Given the description of an element on the screen output the (x, y) to click on. 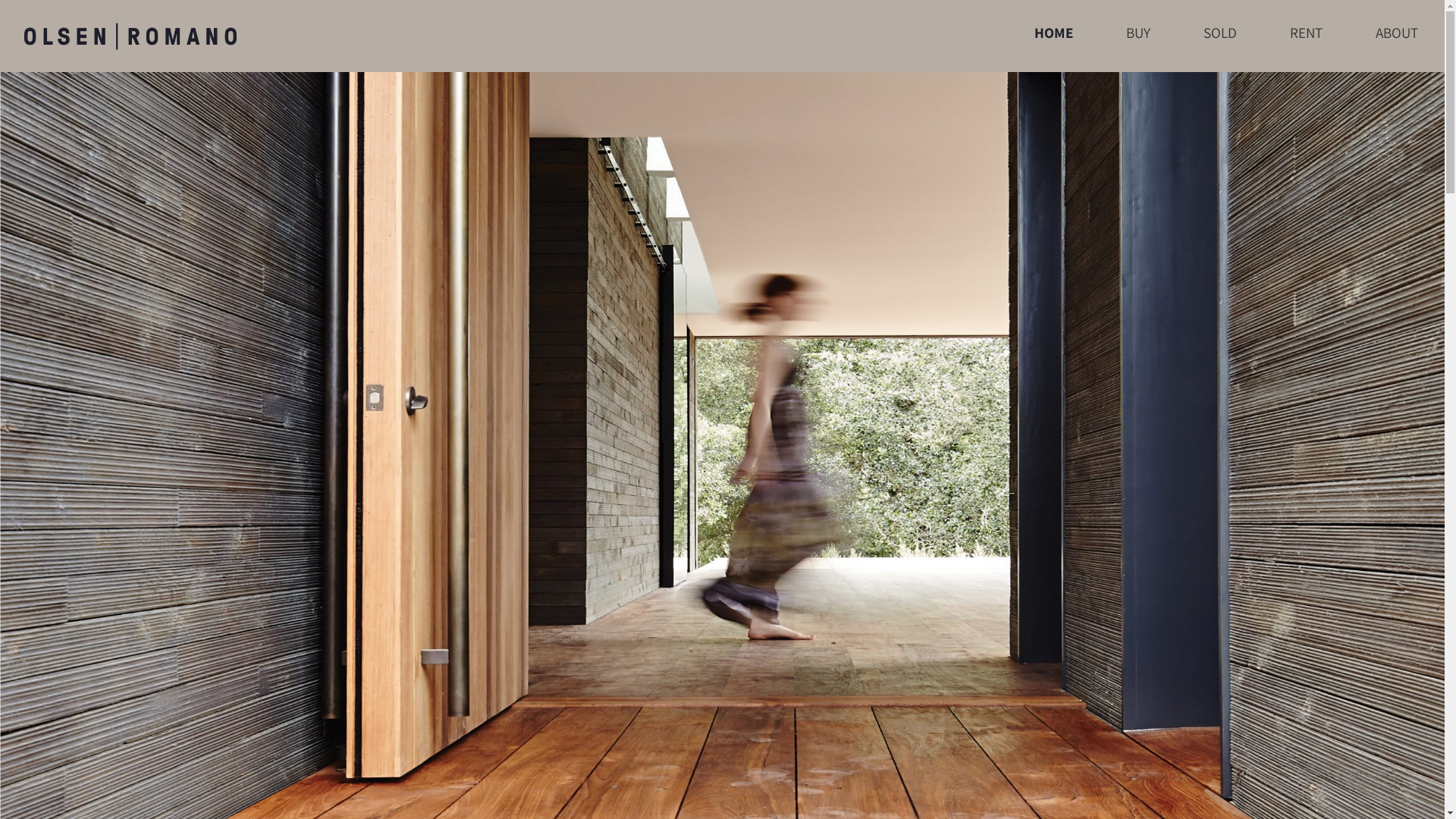
Olsen Romano Estate Agents -  Element type: hover (130, 35)
RENT Element type: text (1306, 43)
BUY Element type: text (1137, 43)
HOME Element type: text (1053, 40)
ABOUT Element type: text (1396, 43)
SOLD Element type: text (1219, 43)
